Given the description of an element on the screen output the (x, y) to click on. 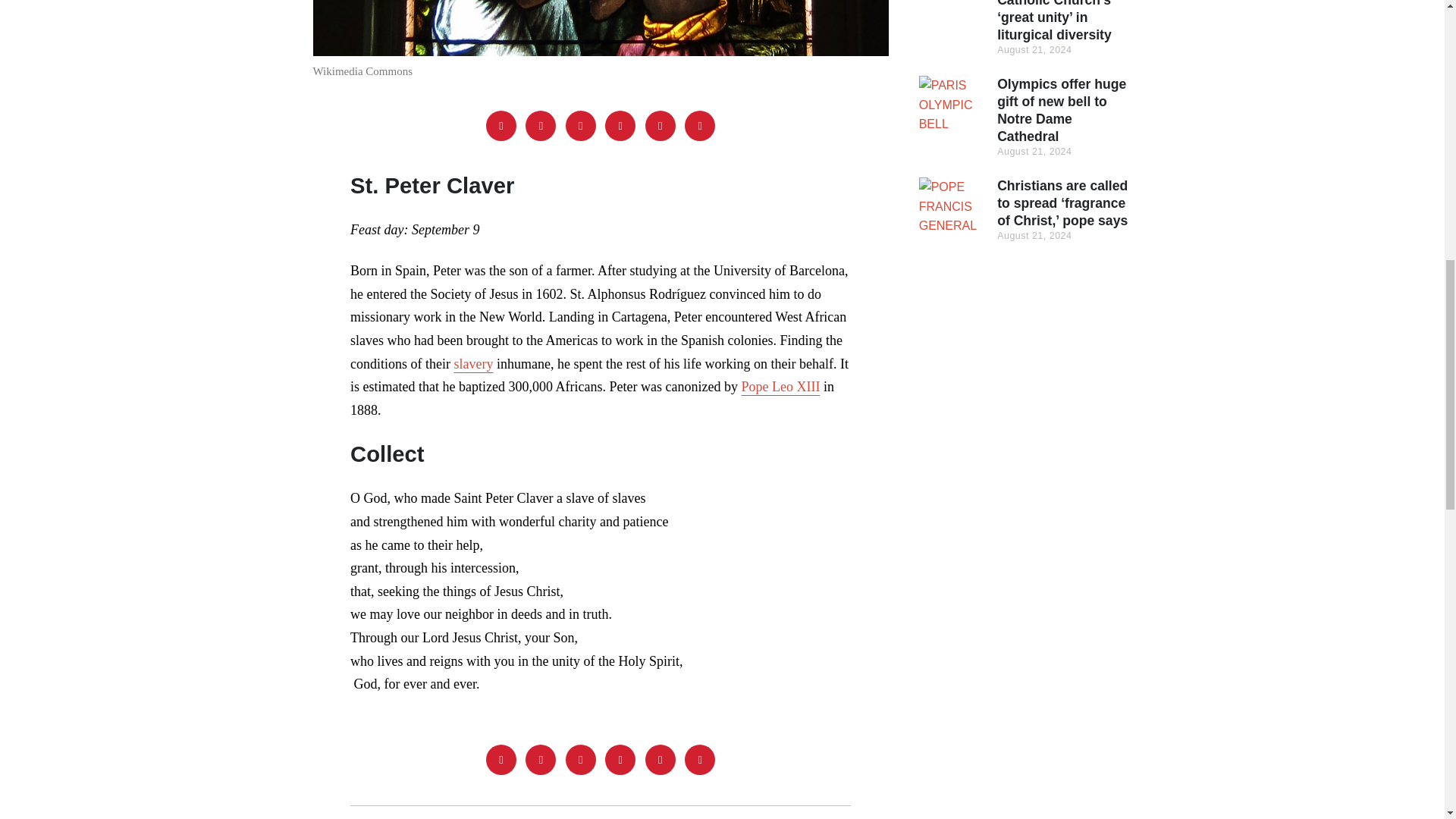
Email (699, 125)
Email (699, 759)
Whatsapp (660, 759)
Twitter (580, 759)
Messenger (540, 125)
Whatsapp (660, 125)
Linkedin (619, 125)
Linkedin (619, 759)
Facebook (501, 125)
Messenger (540, 759)
